Given the description of an element on the screen output the (x, y) to click on. 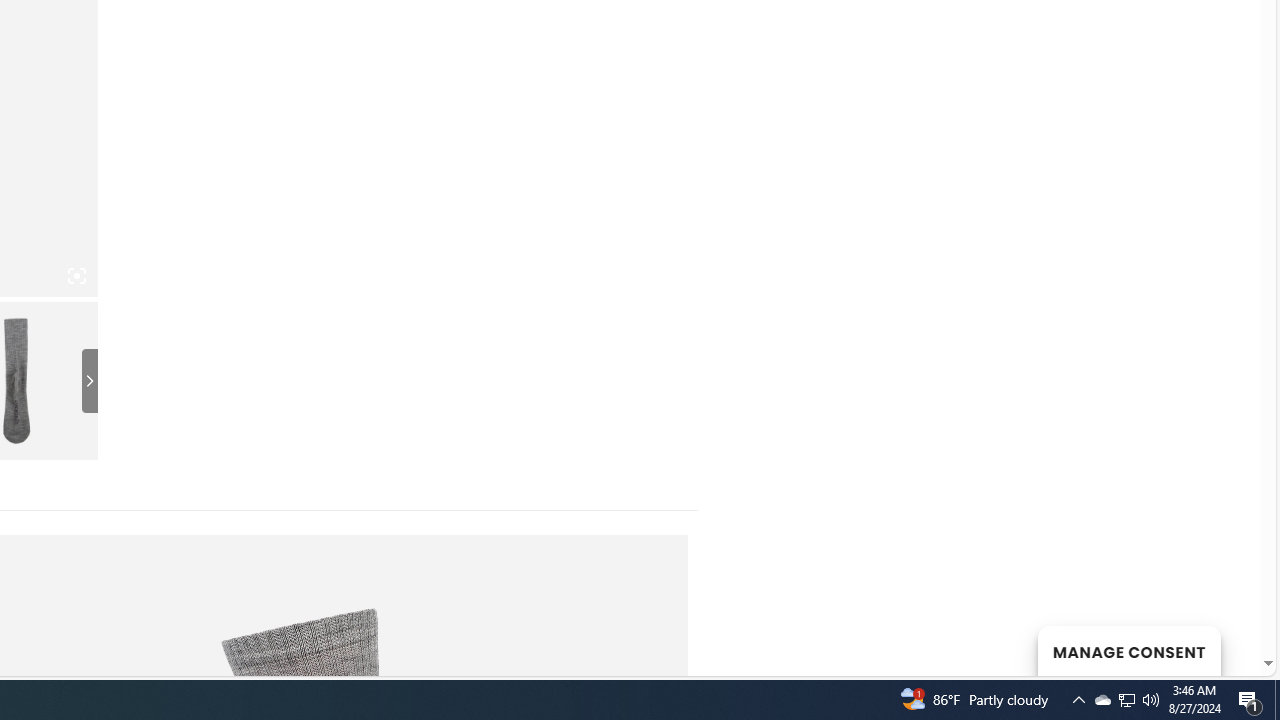
MANAGE CONSENT (1128, 650)
Class: iconic-woothumbs-fullscreen (75, 276)
